Given the description of an element on the screen output the (x, y) to click on. 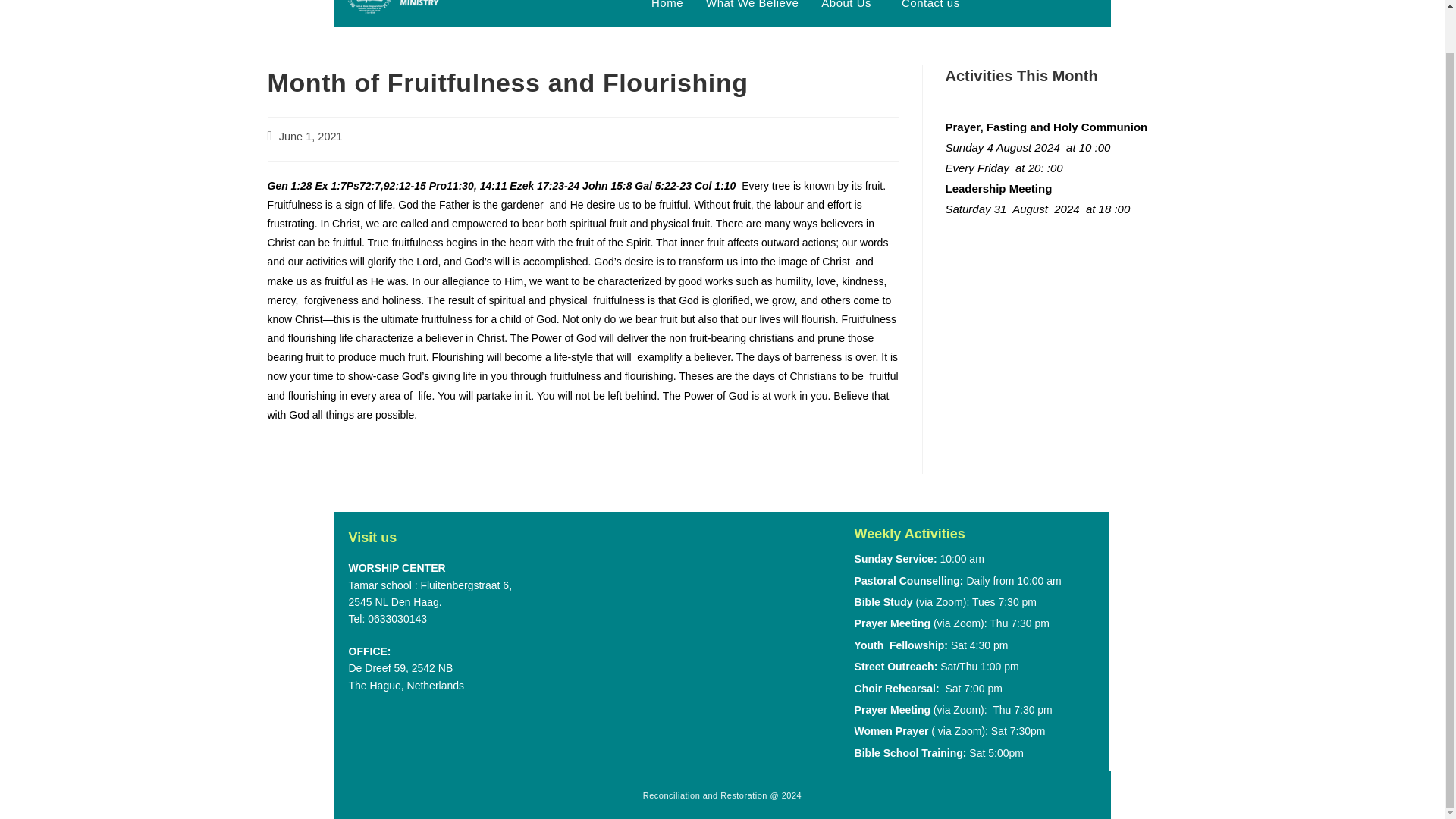
Home (667, 9)
Tamar school : Fluitenbergstraat 6, 2545 NL Den Haag. (700, 640)
Contact us (930, 9)
About Us (849, 9)
What We Believe (751, 9)
